Given the description of an element on the screen output the (x, y) to click on. 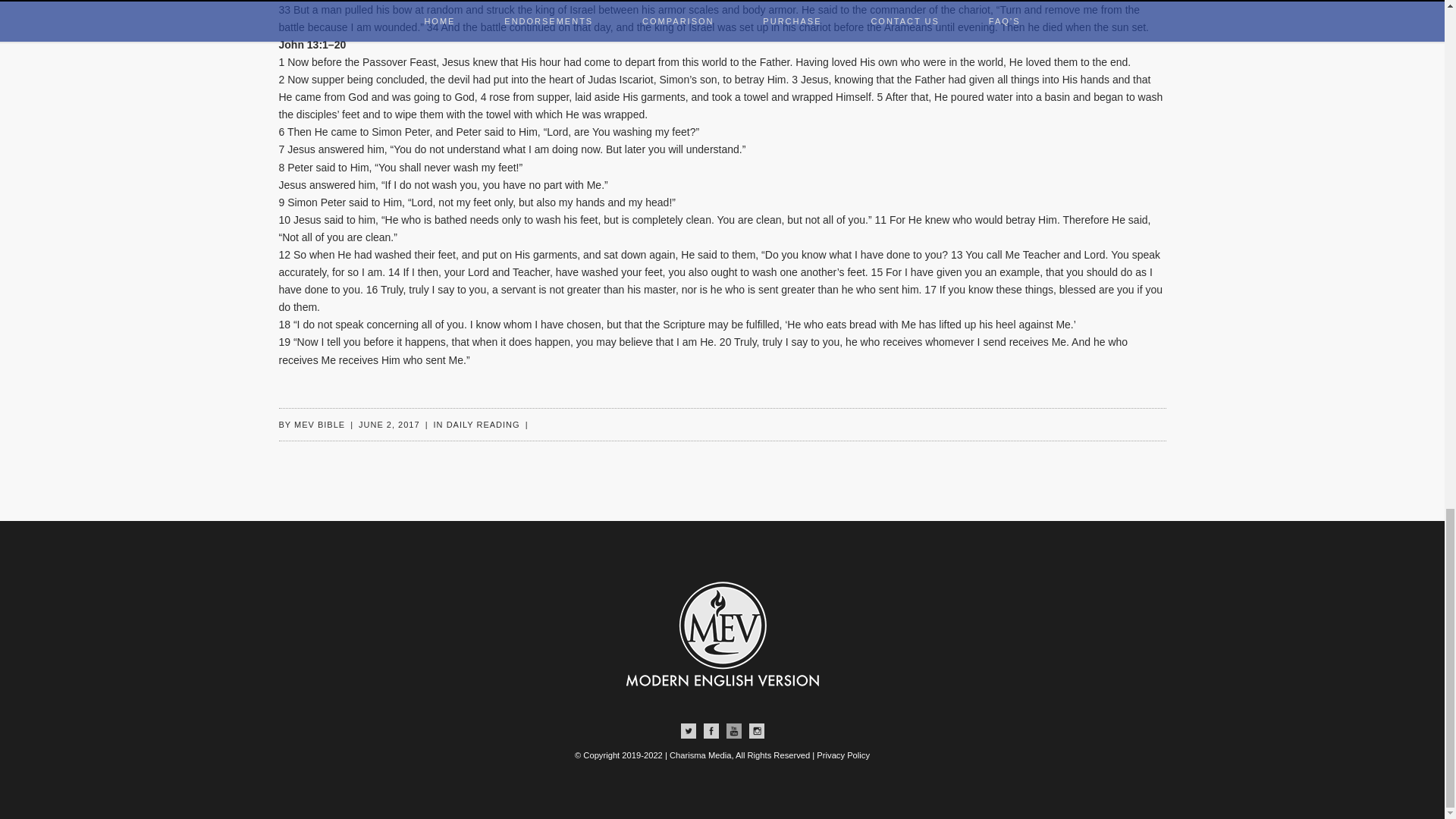
DAILY READING (482, 424)
Privacy Policy (842, 755)
MEV BIBLE (319, 424)
